Given the description of an element on the screen output the (x, y) to click on. 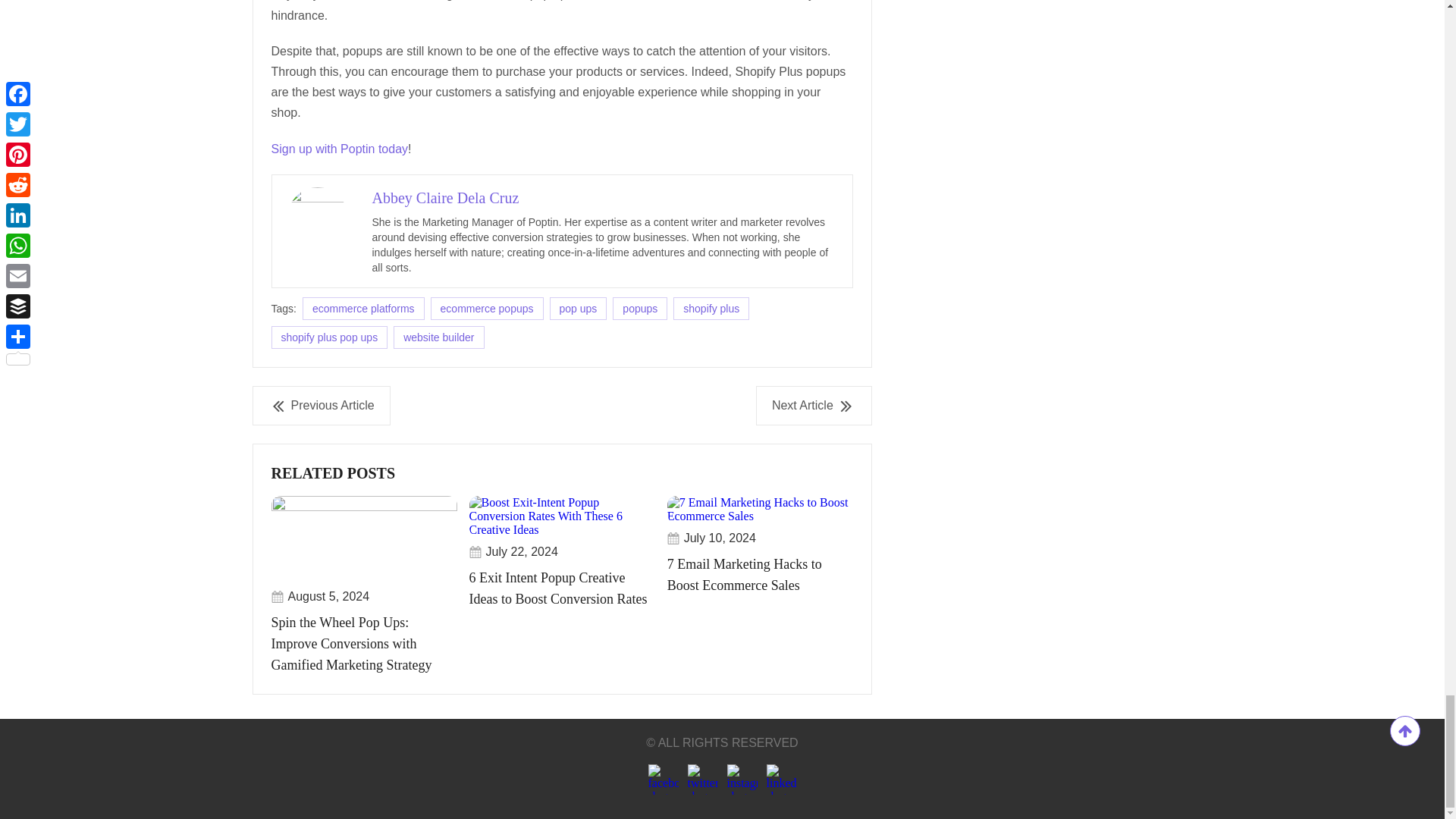
pop ups (578, 308)
Sign up with Poptin today (339, 148)
ecommerce platforms (363, 308)
Previous Article (320, 405)
7 Email Marketing Hacks to Boost Ecommerce Sales (759, 552)
shopify plus pop ups (329, 336)
Feature image (363, 539)
